Given the description of an element on the screen output the (x, y) to click on. 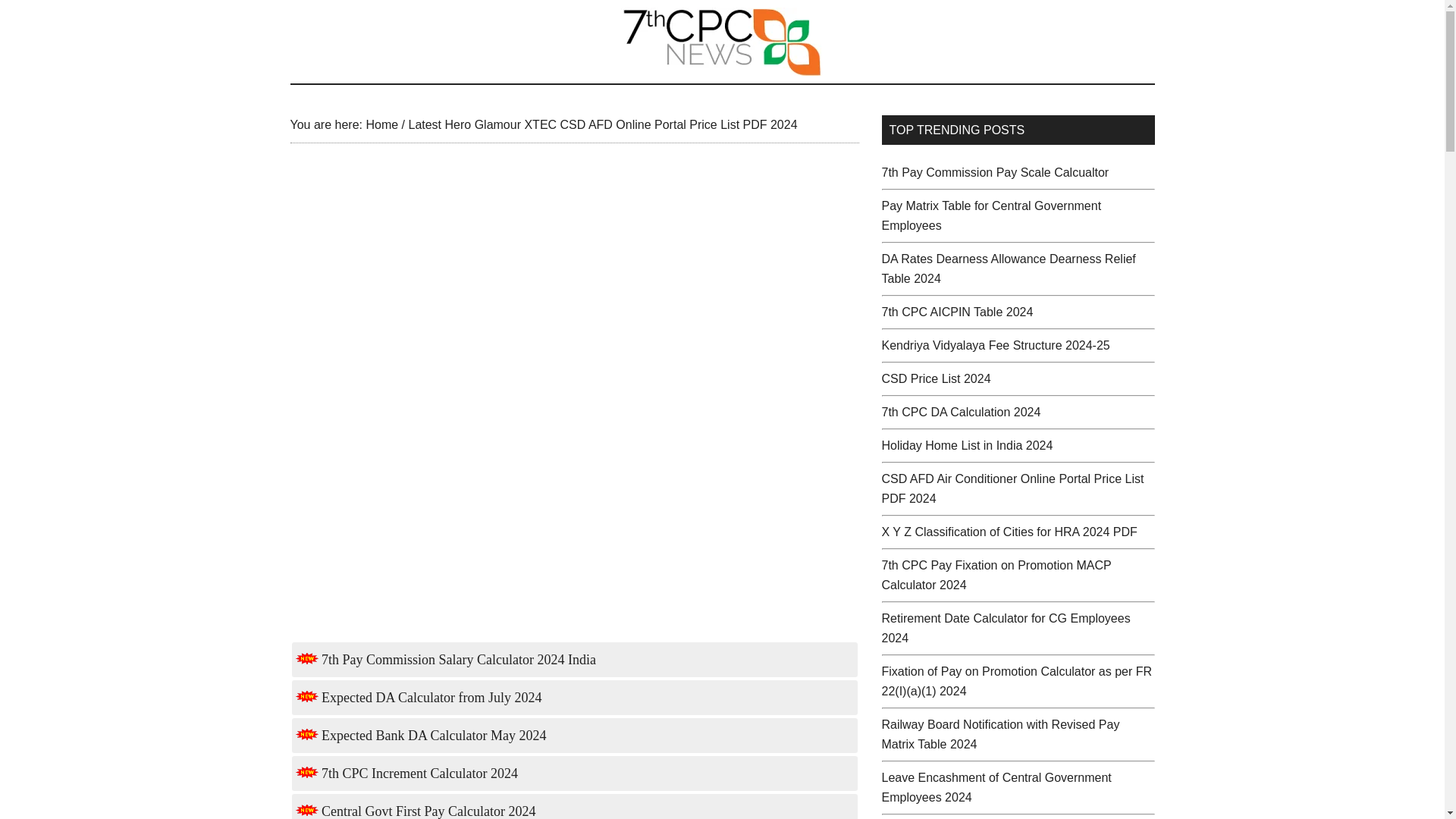
7th Pay Commission Pay Scale Calcualtor (994, 172)
CSD Price List 2024 (935, 378)
7th Pay Commission Salary Calculator 2024 India (445, 659)
Central Govt First Pay Calculator 2024 (415, 811)
DA Rates Dearness Allowance Dearness Relief Table 2024 (1007, 268)
Leave Encashment of Central Government Employees 2024 (995, 787)
Expected Bank DA Calculator May 2024 (421, 735)
CSD AFD Air Conditioner Online Portal Price List PDF 2024 (1011, 488)
